Given the description of an element on the screen output the (x, y) to click on. 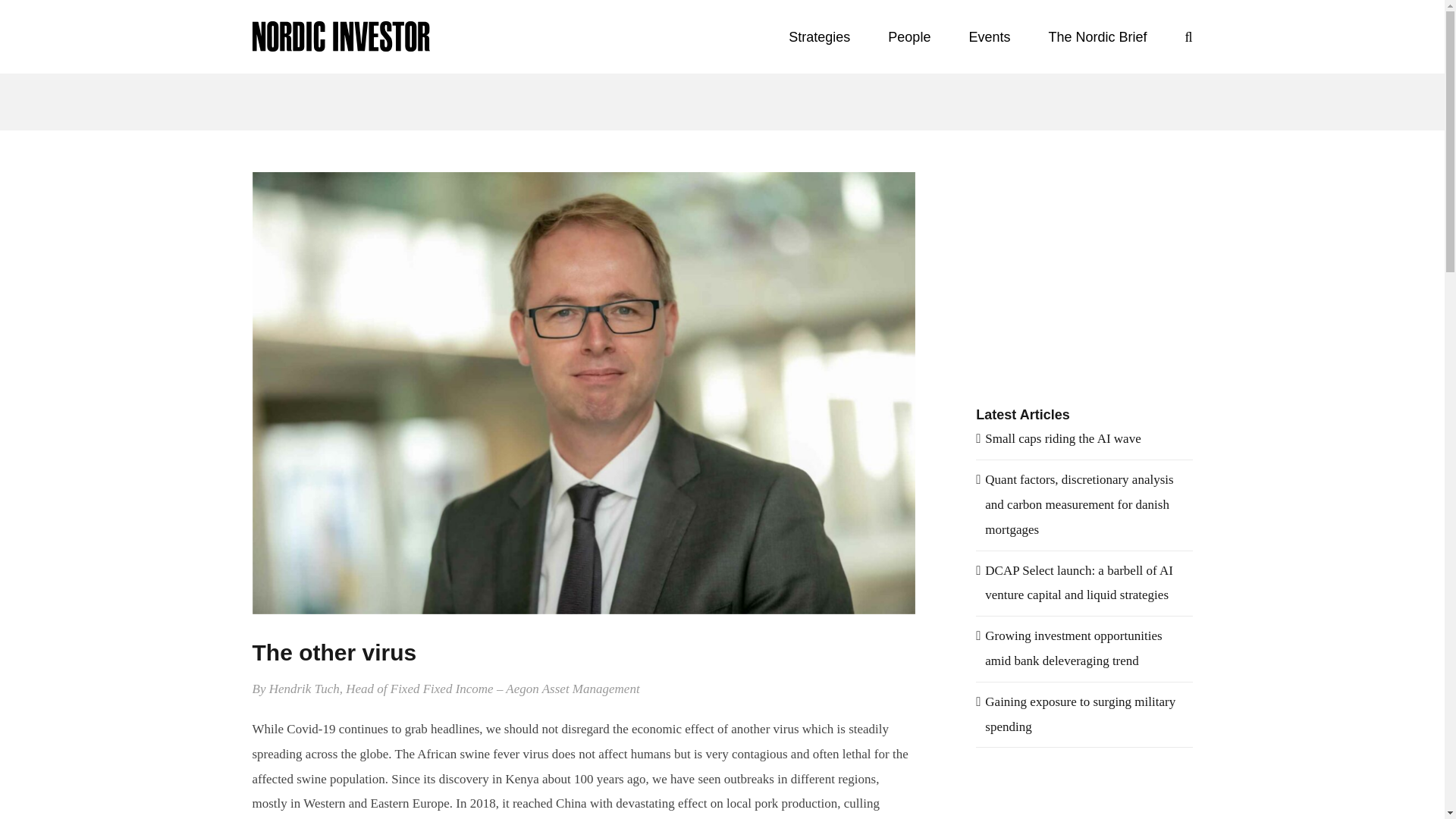
The Nordic Brief (1097, 36)
